Given the description of an element on the screen output the (x, y) to click on. 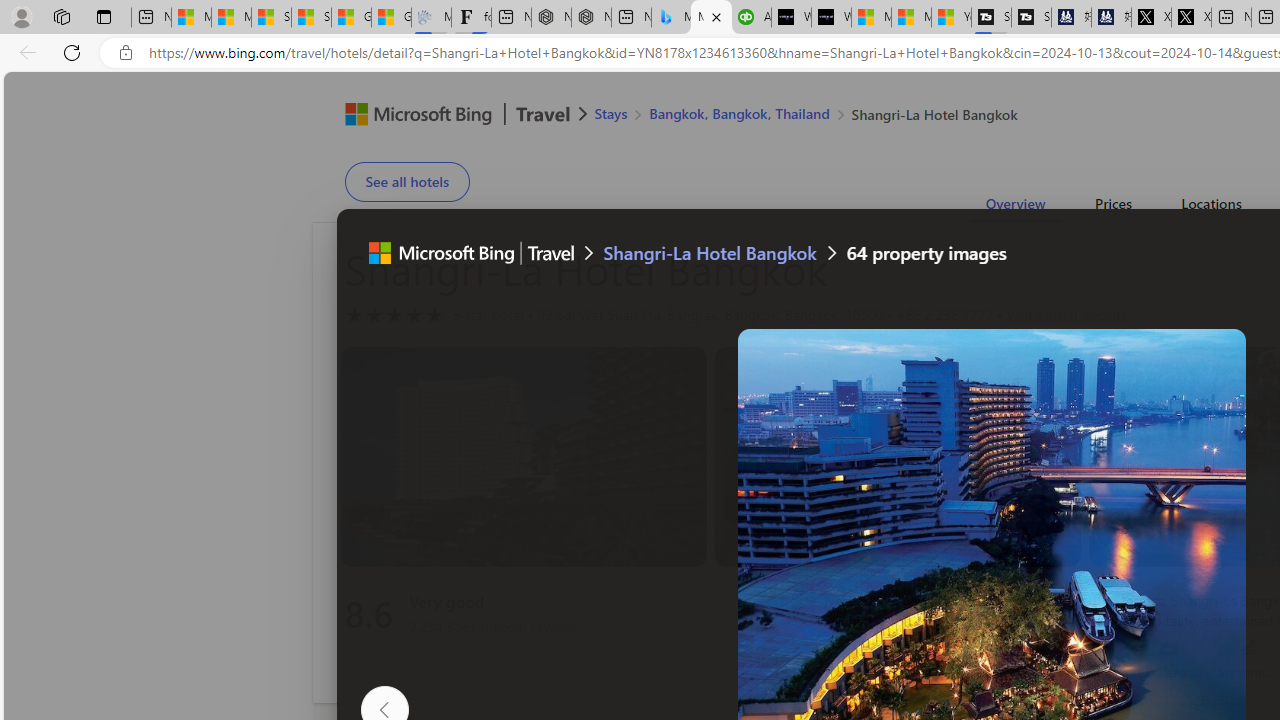
Microsoft Bing Travel - Shangri-La Hotel Bangkok (711, 17)
